Given the description of an element on the screen output the (x, y) to click on. 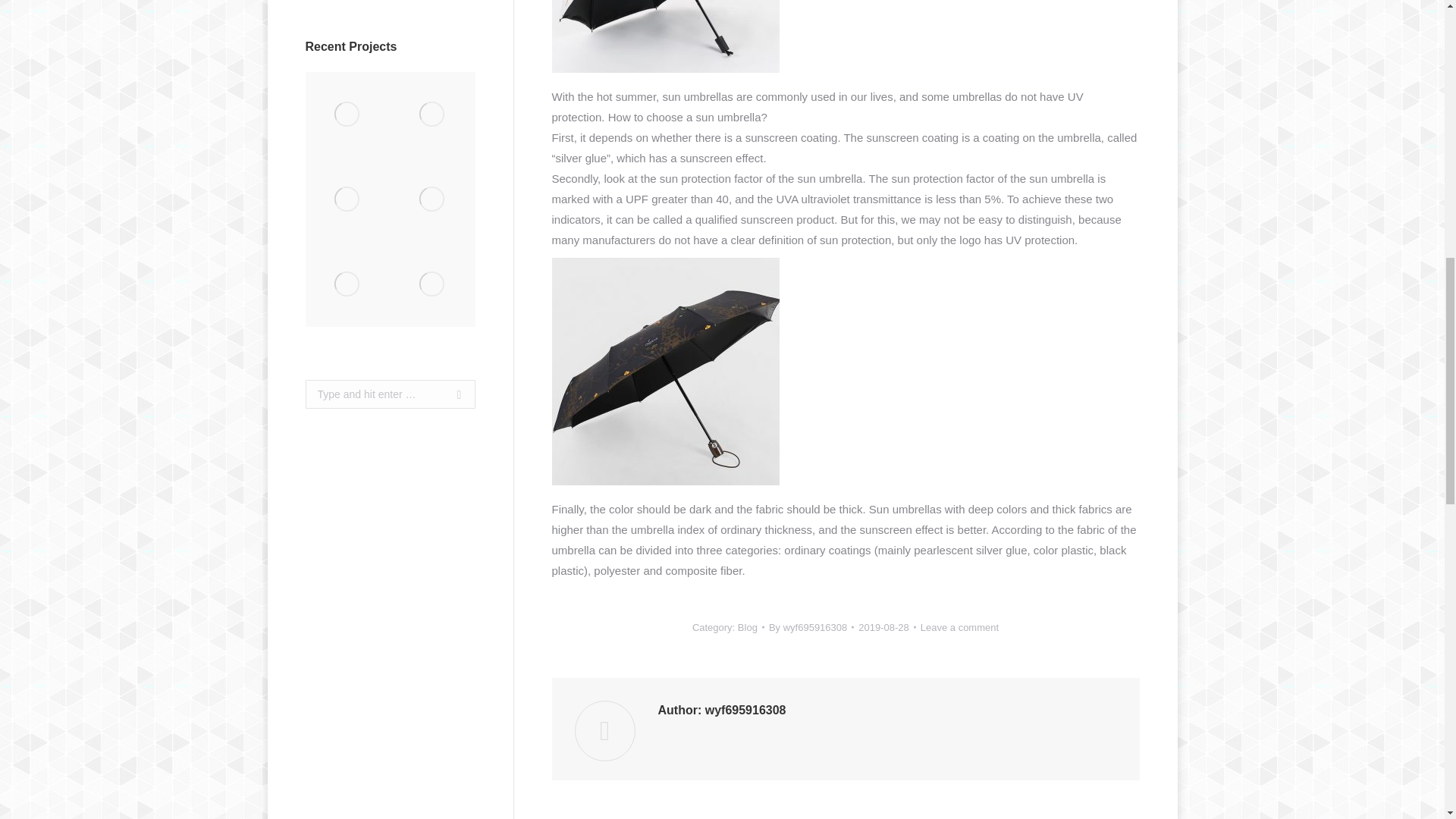
Go! (453, 394)
Go! (453, 394)
